Given the description of an element on the screen output the (x, y) to click on. 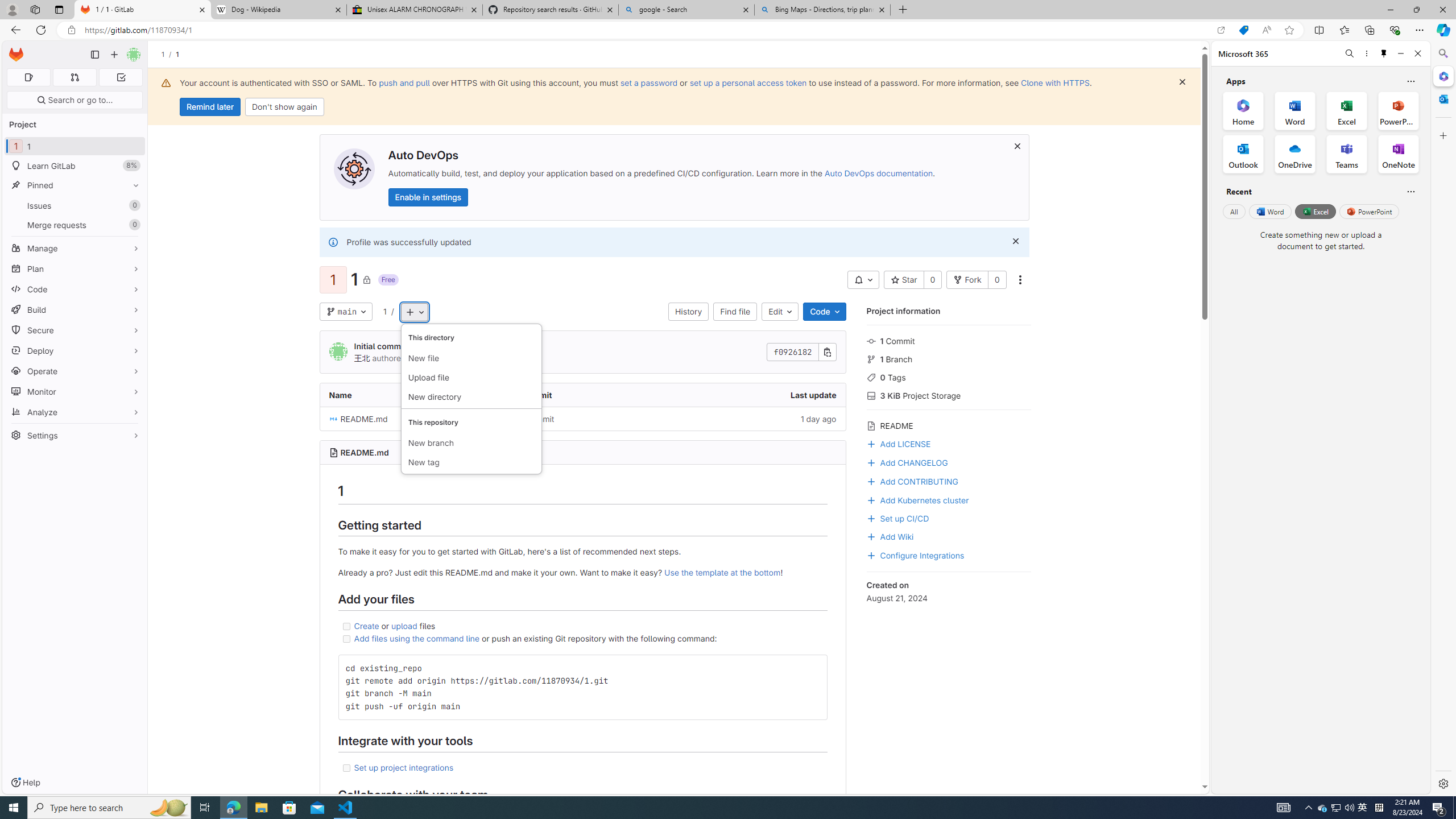
Add Wiki (948, 535)
Learn GitLab8% (74, 165)
Set up CI/CD (897, 517)
Build (74, 309)
upload (404, 625)
Add CONTRIBUTING (948, 480)
New directory (470, 397)
set a password (649, 82)
Merge requests0 (74, 224)
Class: task-list-item-checkbox (346, 767)
Secure (74, 330)
